Given the description of an element on the screen output the (x, y) to click on. 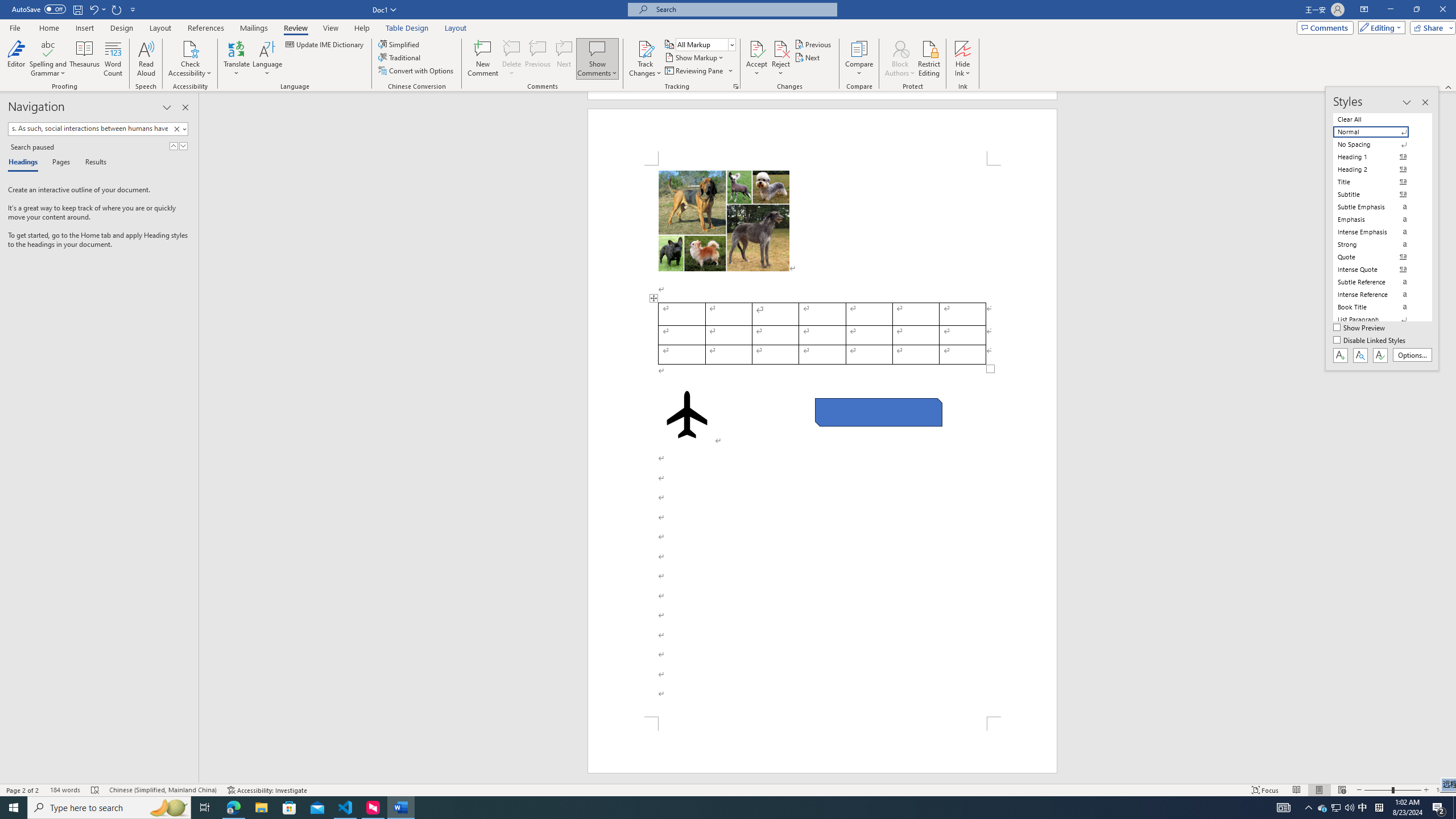
Strong (1377, 244)
Subtle Emphasis (1377, 206)
Title (1377, 182)
Simplified (400, 44)
Intense Emphasis (1377, 232)
Open (731, 44)
Reviewing Pane (694, 69)
Rectangle: Diagonal Corners Snipped 2 (878, 412)
Search document (89, 128)
Clear (176, 128)
Show Comments (597, 48)
Subtle Reference (1377, 282)
Show Markup (695, 56)
Language (267, 58)
Accept and Move to Next (756, 48)
